Given the description of an element on the screen output the (x, y) to click on. 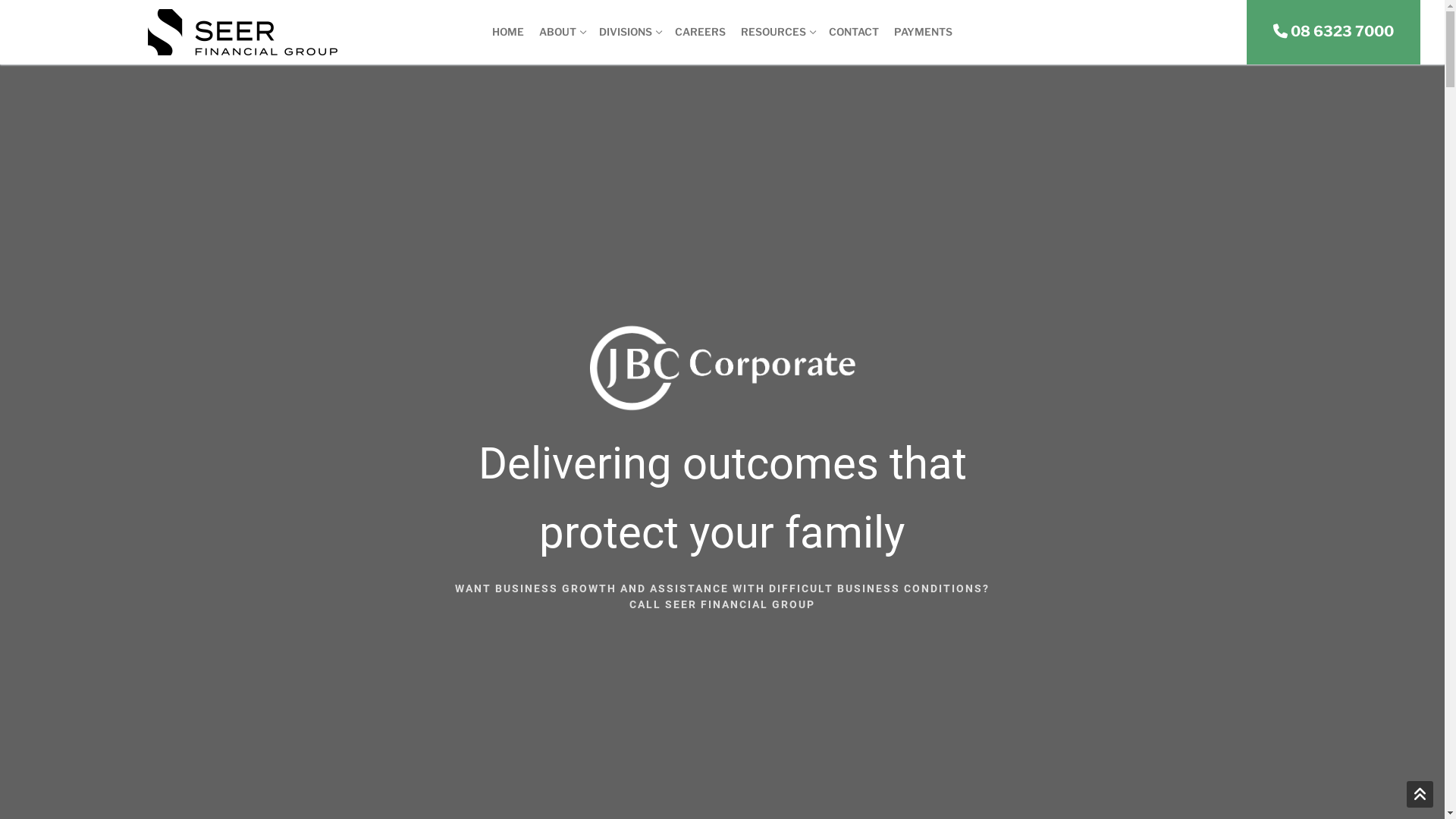
DIVISIONS
  Element type: text (629, 32)
CONTACT Element type: text (853, 32)
ABOUT
  Element type: text (561, 32)
PAYMENTS Element type: text (923, 32)
RESOURCES
  Element type: text (777, 32)
08 6323 7000 Element type: text (1333, 32)
HOME Element type: text (507, 32)
CAREERS Element type: text (700, 32)
